Given the description of an element on the screen output the (x, y) to click on. 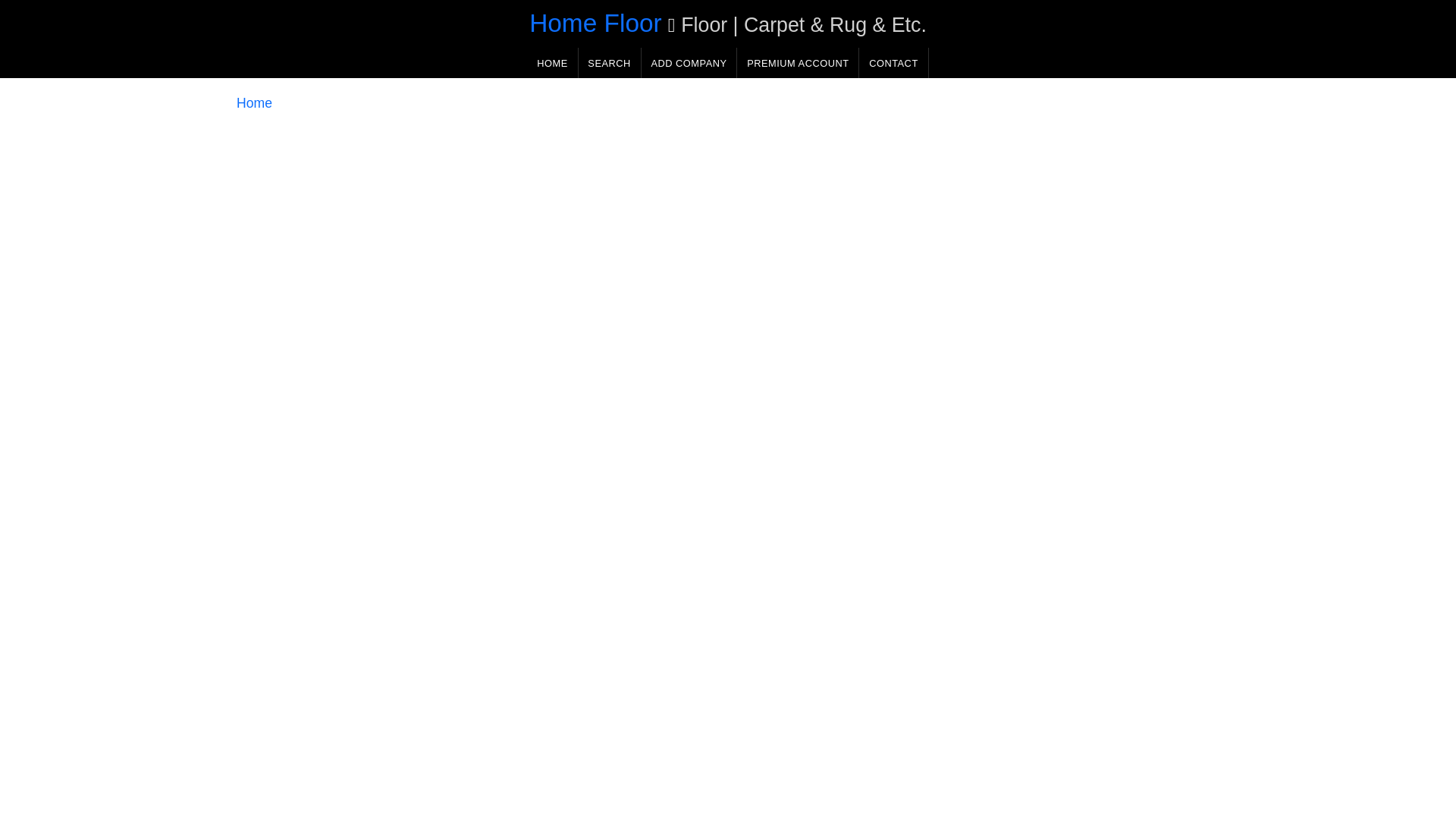
Search in this webseite. (609, 62)
Home Floor (595, 22)
HOME (551, 62)
Premium account (797, 62)
Home (253, 102)
CONTACT (893, 62)
ADD COMPANY (689, 62)
Add a new company (689, 62)
PREMIUM ACCOUNT (797, 62)
